Given the description of an element on the screen output the (x, y) to click on. 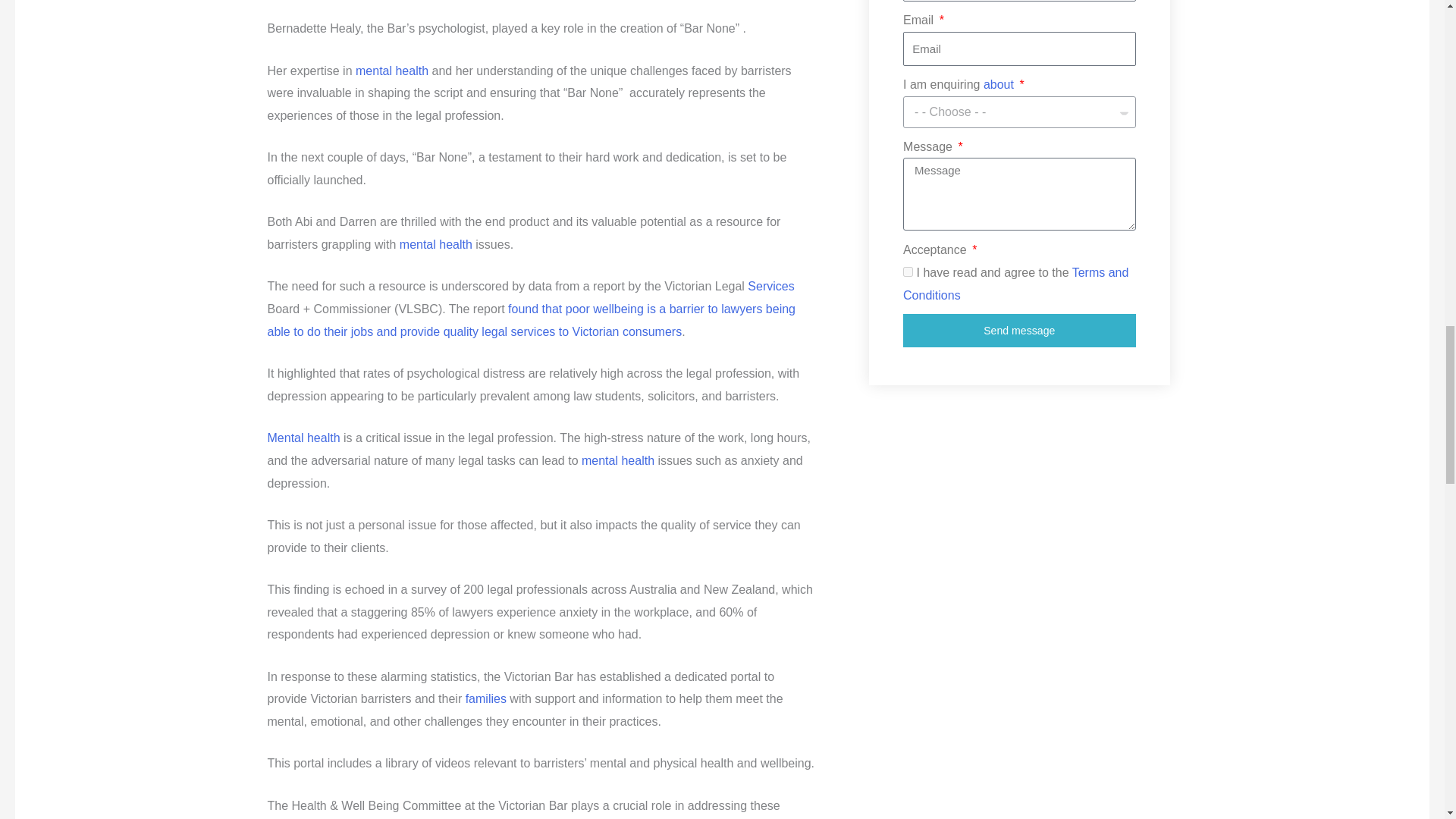
mental health (616, 460)
mental health (391, 70)
Mental health (302, 437)
Services (770, 286)
families (485, 698)
mental health (434, 244)
on (907, 271)
